Given the description of an element on the screen output the (x, y) to click on. 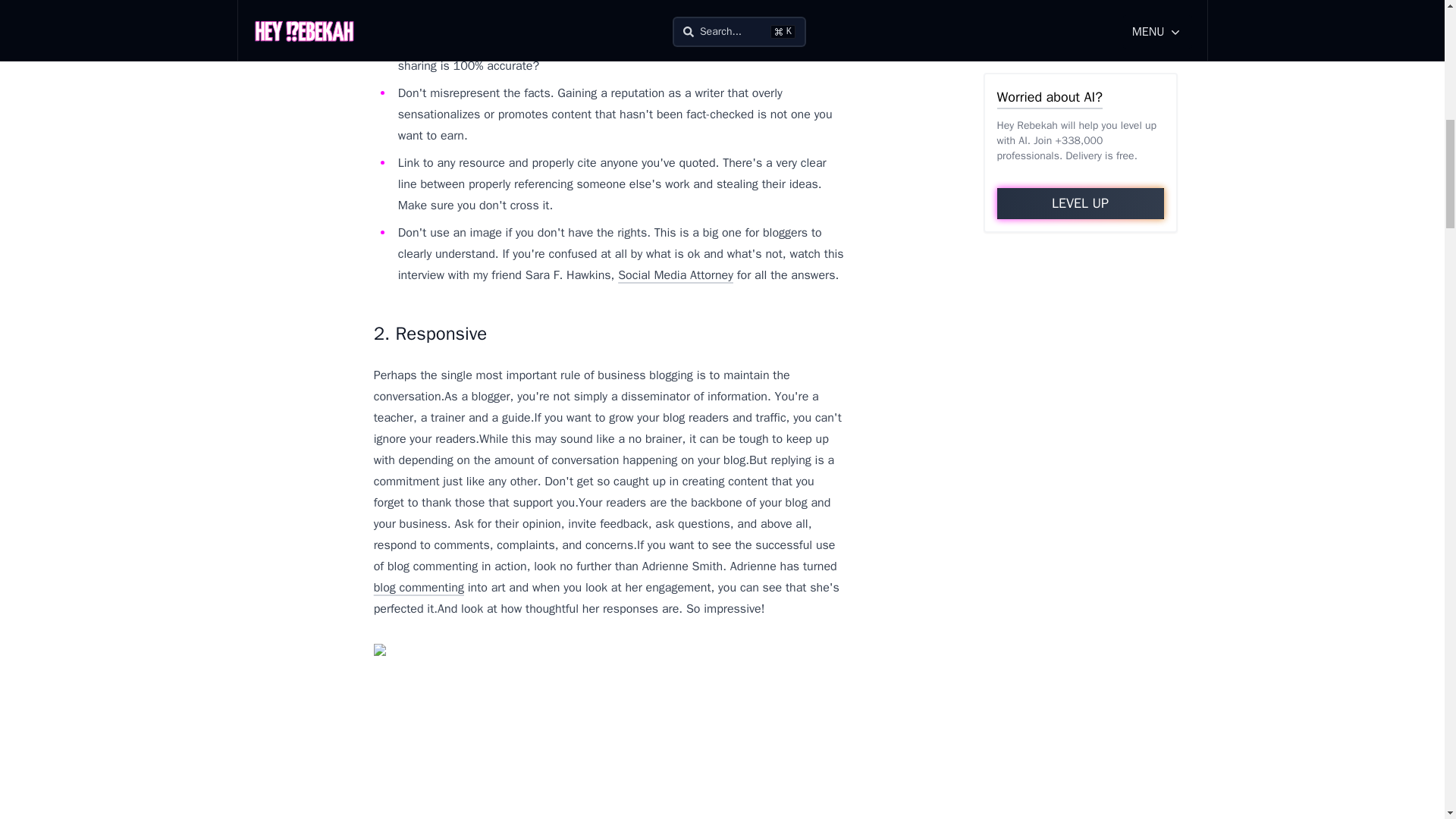
Social Media Attorney (675, 274)
blog commenting (419, 587)
